Given the description of an element on the screen output the (x, y) to click on. 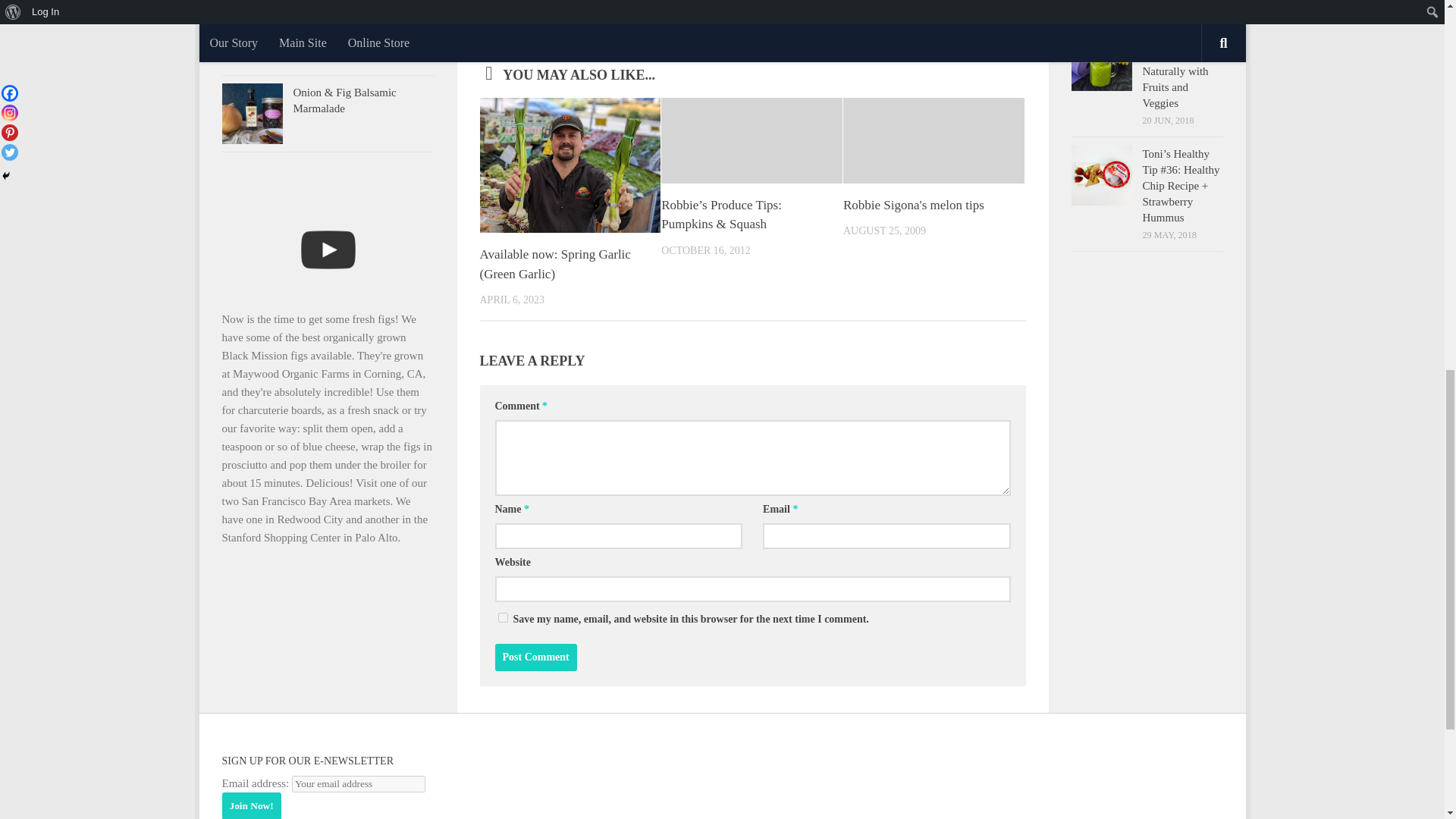
Join Now! (251, 805)
yes (501, 617)
EVOO (497, 5)
farmers market Redwood City (792, 5)
Post Comment (535, 656)
farmers market Palo Alto (677, 5)
farmers market Bay Area (570, 5)
